Given the description of an element on the screen output the (x, y) to click on. 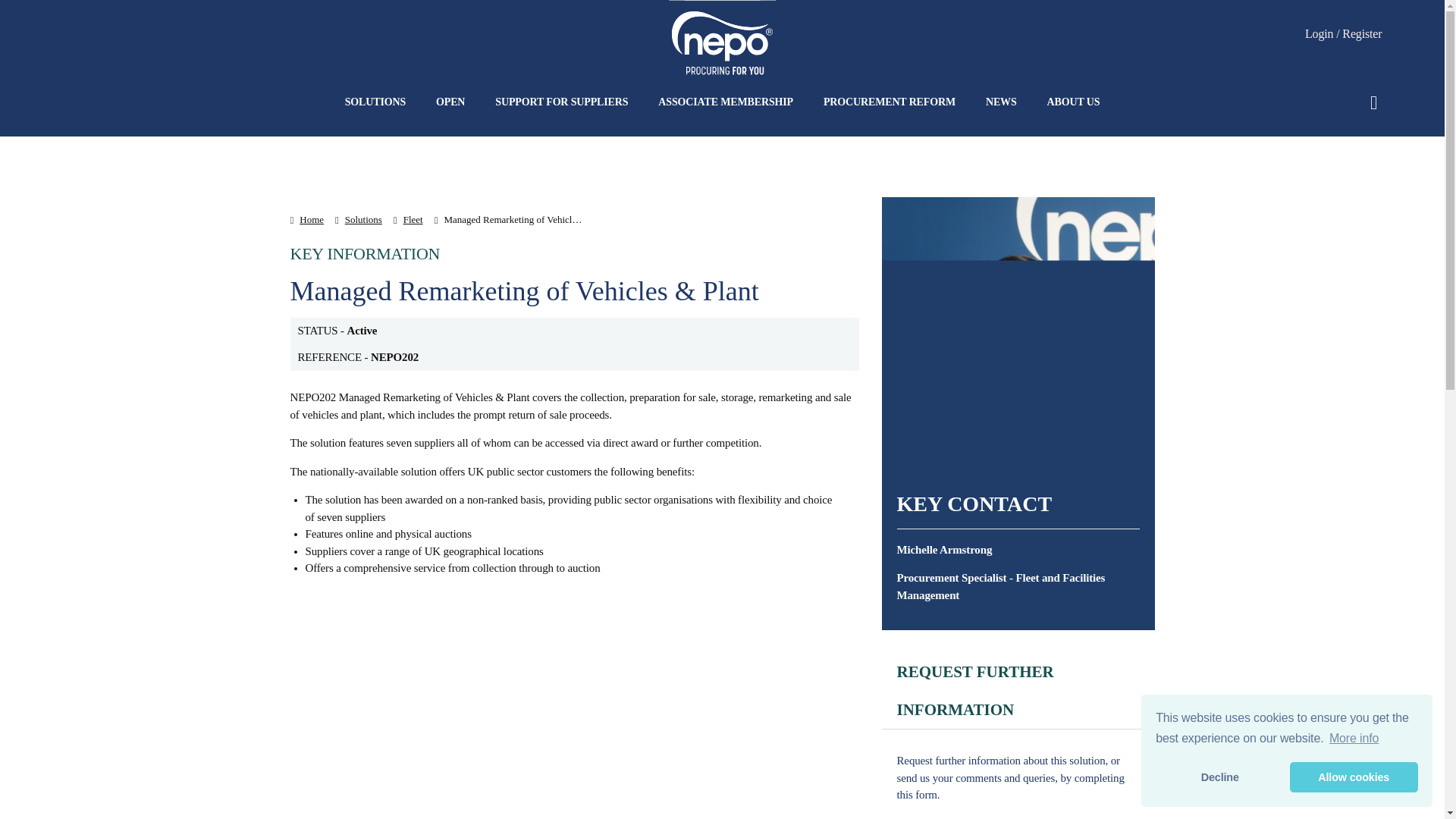
ABOUT US (1073, 101)
ASSOCIATE MEMBERSHIP (725, 101)
Home (306, 219)
Decline (1220, 777)
NEPO (722, 45)
Fleet (408, 219)
Solutions (357, 219)
SOLUTIONS (374, 101)
